Given the description of an element on the screen output the (x, y) to click on. 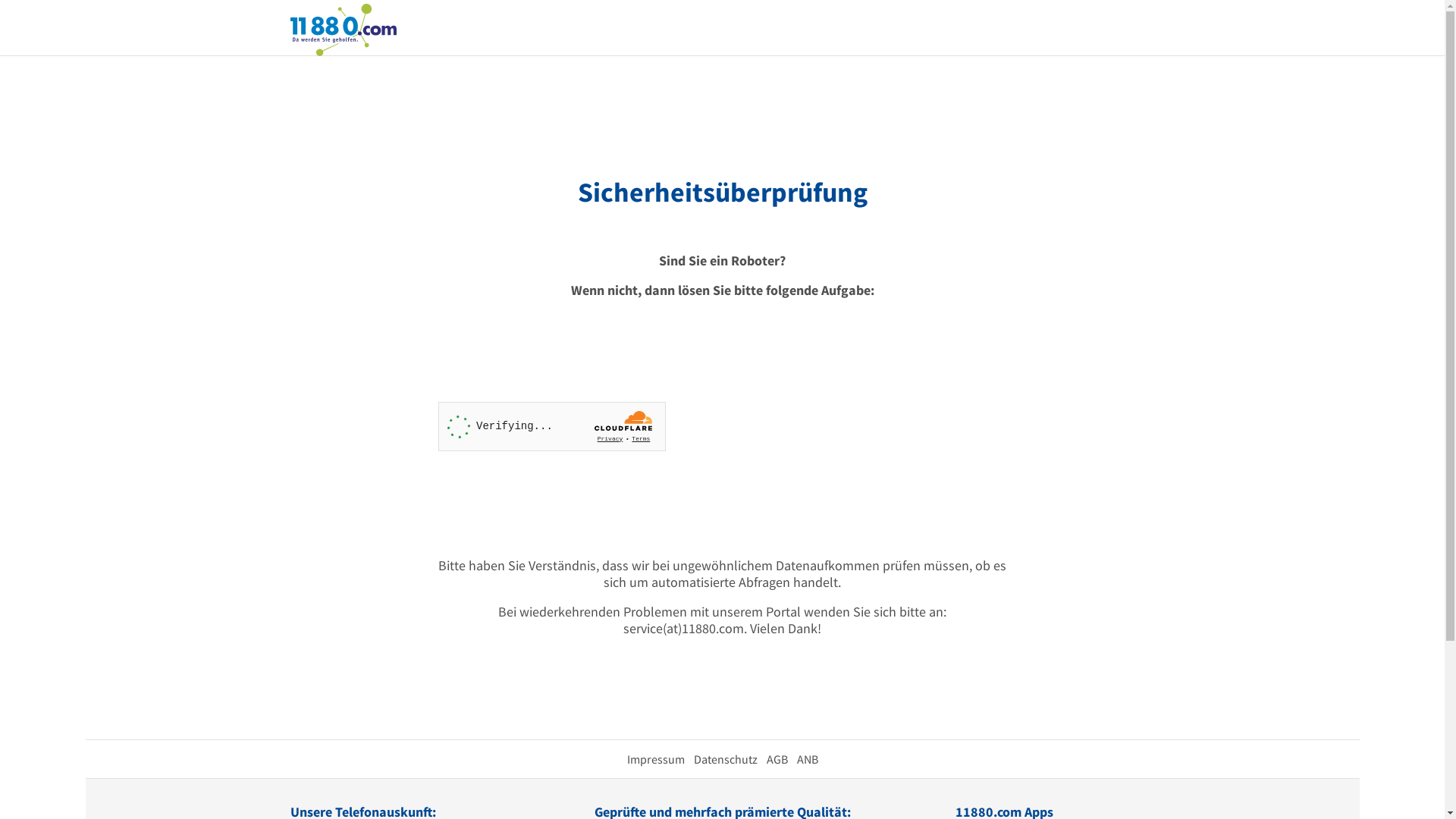
Impressum Element type: text (655, 758)
11880.com Element type: hover (342, 28)
Datenschutz Element type: text (724, 758)
AGB Element type: text (776, 758)
Widget containing a Cloudflare security challenge Element type: hover (551, 426)
ANB Element type: text (806, 758)
